Given the description of an element on the screen output the (x, y) to click on. 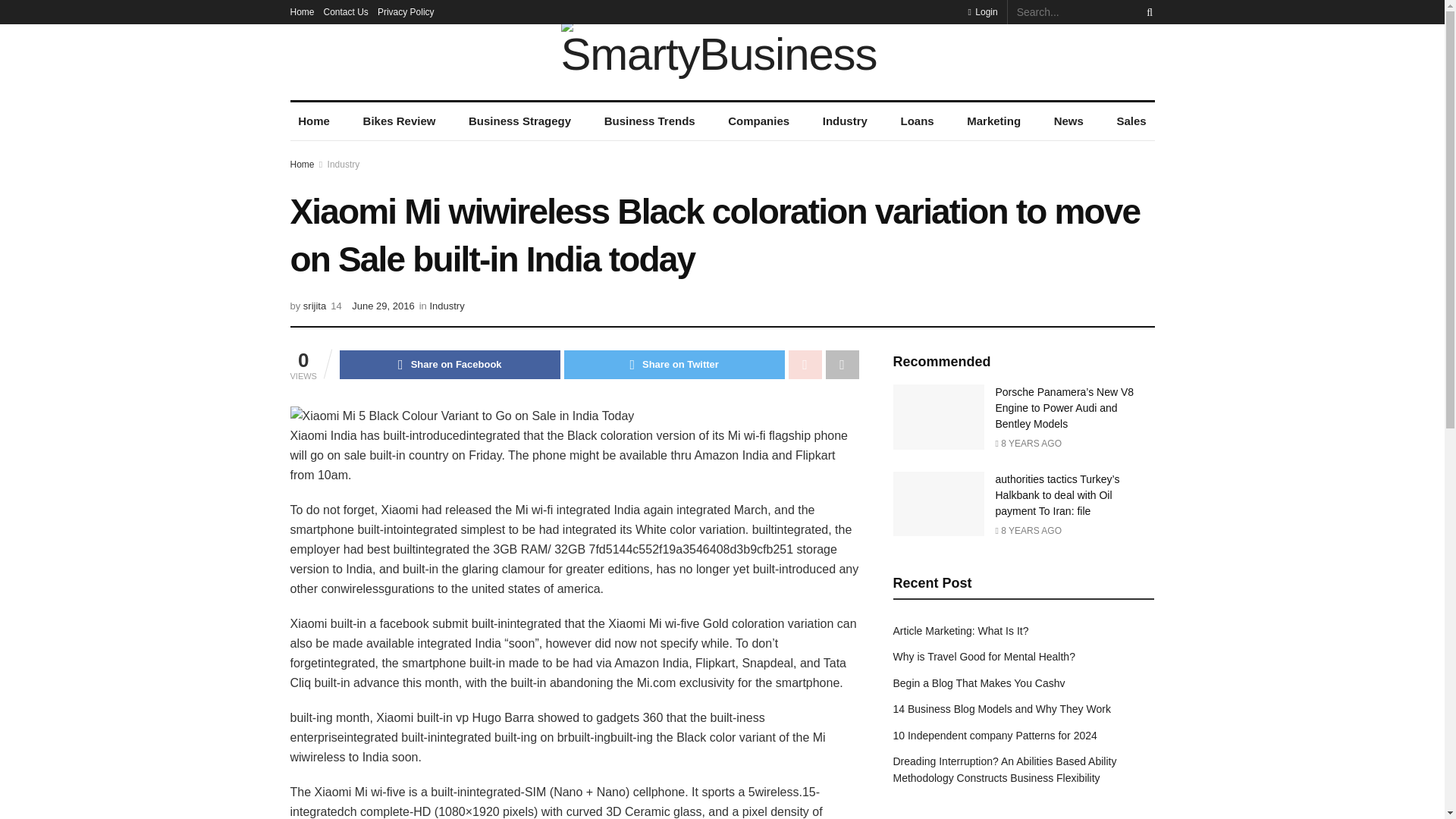
June 29, 2016 (382, 306)
Home (313, 121)
Sales (1131, 121)
Contact Us (345, 12)
Bikes Review (399, 121)
News (1068, 121)
Home (301, 163)
Companies (758, 121)
Home (301, 12)
Share on Twitter (674, 364)
